Given the description of an element on the screen output the (x, y) to click on. 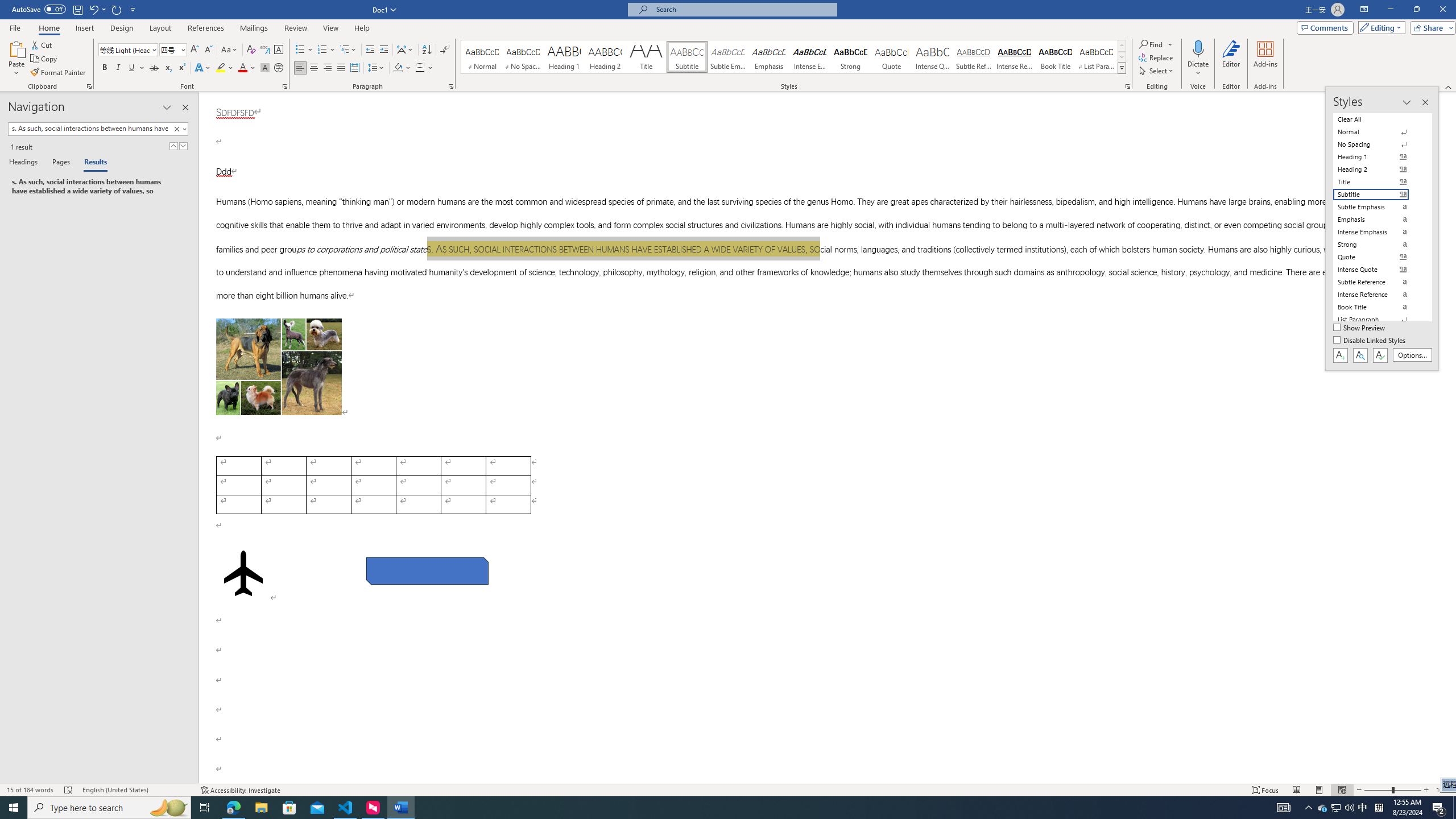
Dictate (1197, 48)
Styles... (1127, 85)
Editing (1379, 27)
Subtitle (686, 56)
Replace... (1156, 56)
Undo Style (96, 9)
Select (1157, 69)
Shading RGB(0, 0, 0) (397, 67)
Minimize (1390, 9)
Font Size (172, 49)
Emphasis (768, 56)
Subtle Reference (973, 56)
Dictate (1197, 58)
